Given the description of an element on the screen output the (x, y) to click on. 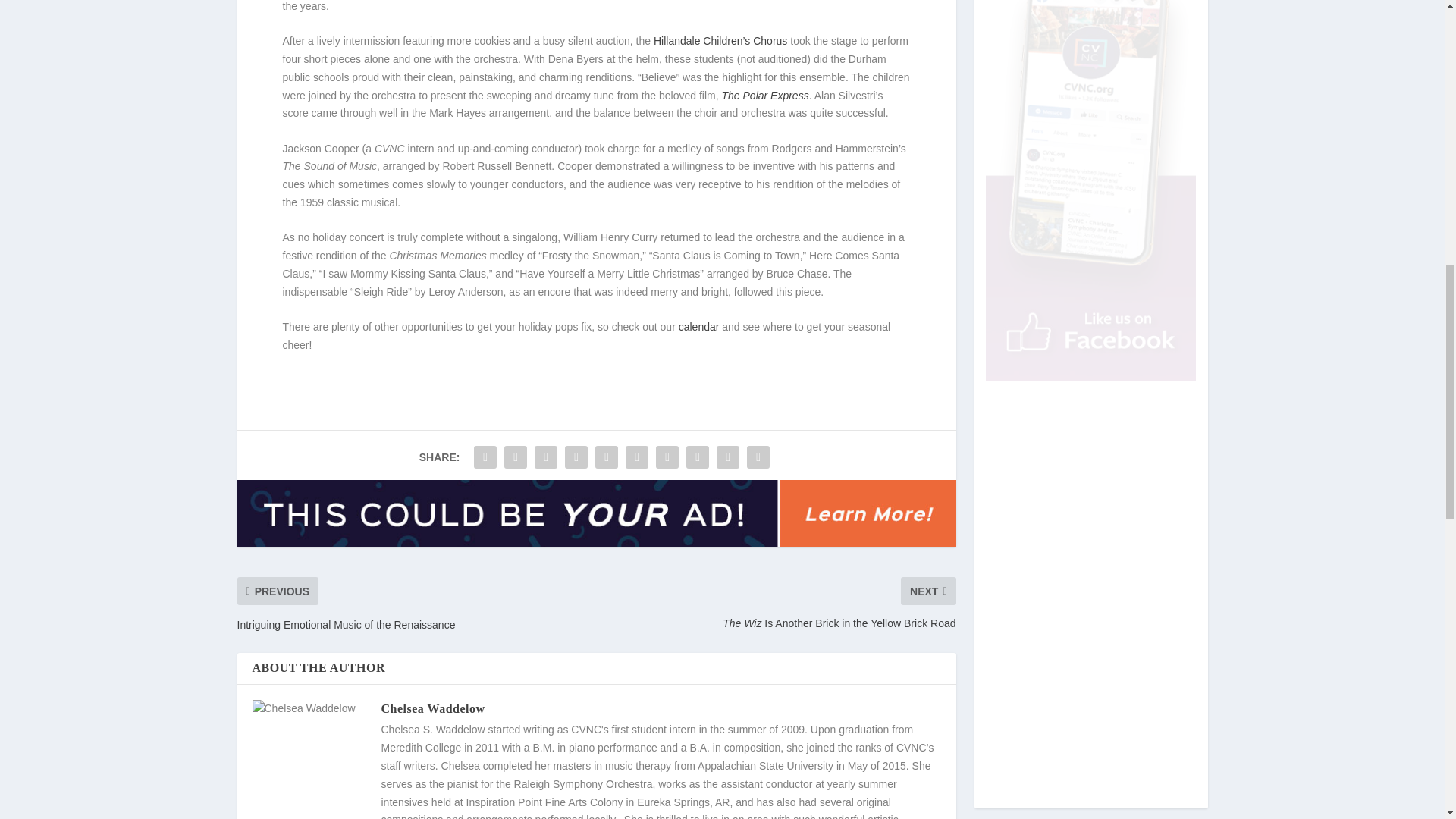
View all posts by Chelsea Waddelow (432, 707)
